Given the description of an element on the screen output the (x, y) to click on. 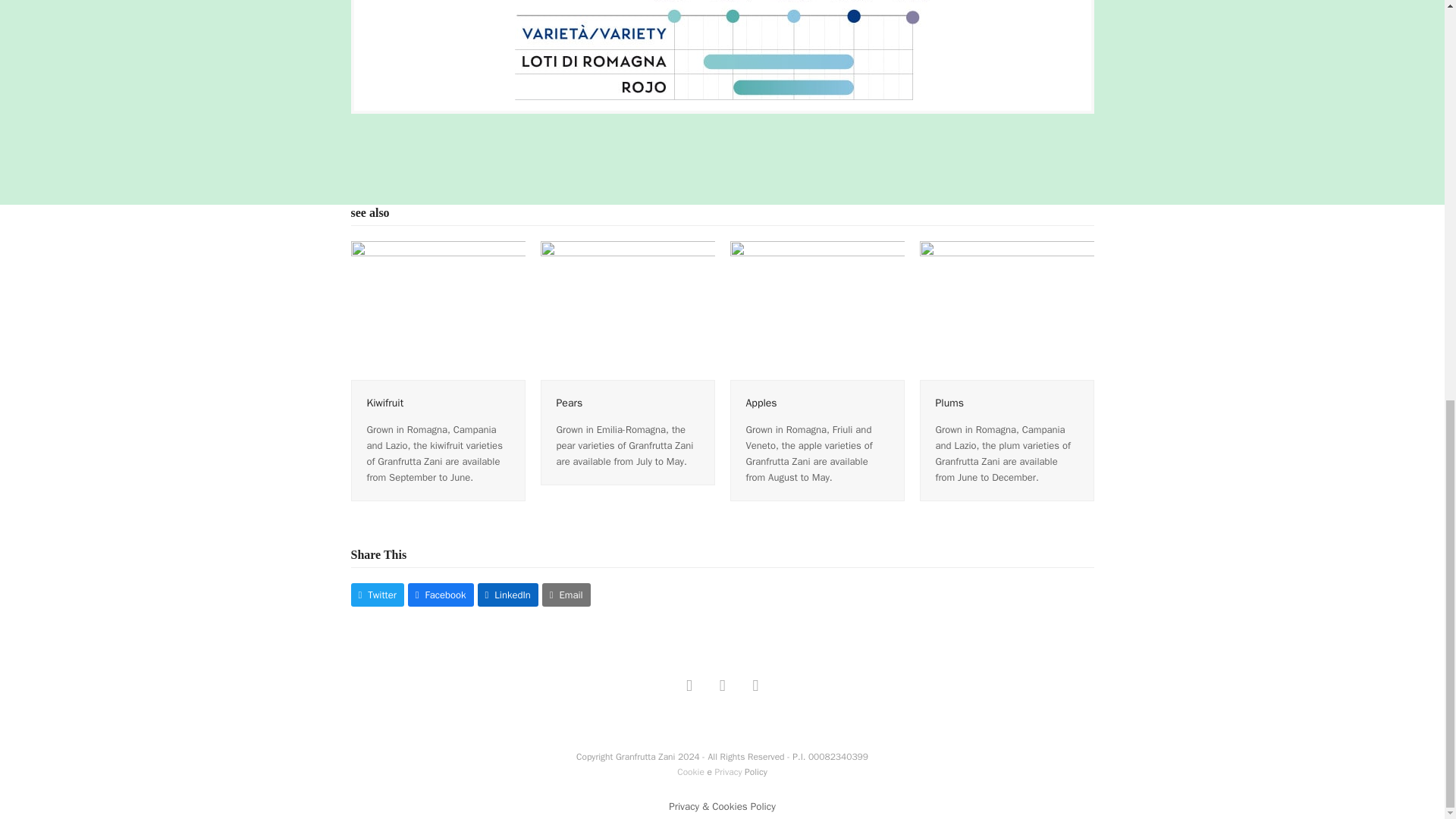
Facebook (440, 594)
Apples (761, 401)
Pears (569, 401)
Apples (816, 309)
Pears (627, 309)
Twitter (376, 594)
Facebook (688, 685)
kaki-calendario-min (722, 49)
Kiwifruit (437, 309)
Plums (949, 401)
